Given the description of an element on the screen output the (x, y) to click on. 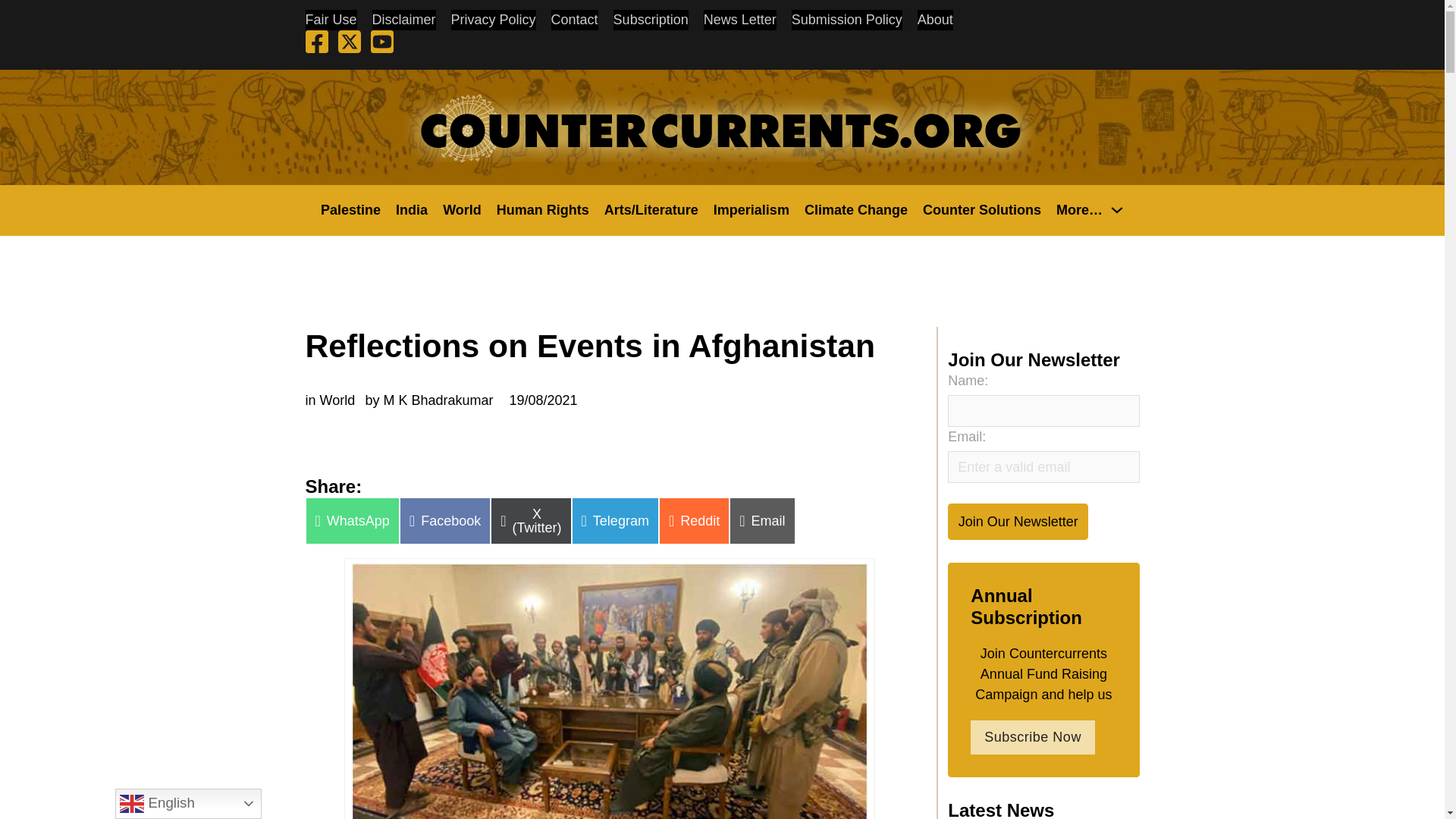
India (412, 209)
Imperialism (751, 209)
About (935, 19)
Human Rights (542, 209)
Climate Change (856, 209)
Submission Policy (847, 19)
Follow us on YouTube (382, 44)
Subscription (650, 19)
Palestine (350, 209)
Follow us on Facebook (315, 44)
Join Our Newsletter (1017, 520)
Follow us on Twitter (349, 44)
Fair Use (330, 19)
Disclaimer (403, 19)
Reflections on Events in Afghanistan 1 (608, 690)
